Given the description of an element on the screen output the (x, y) to click on. 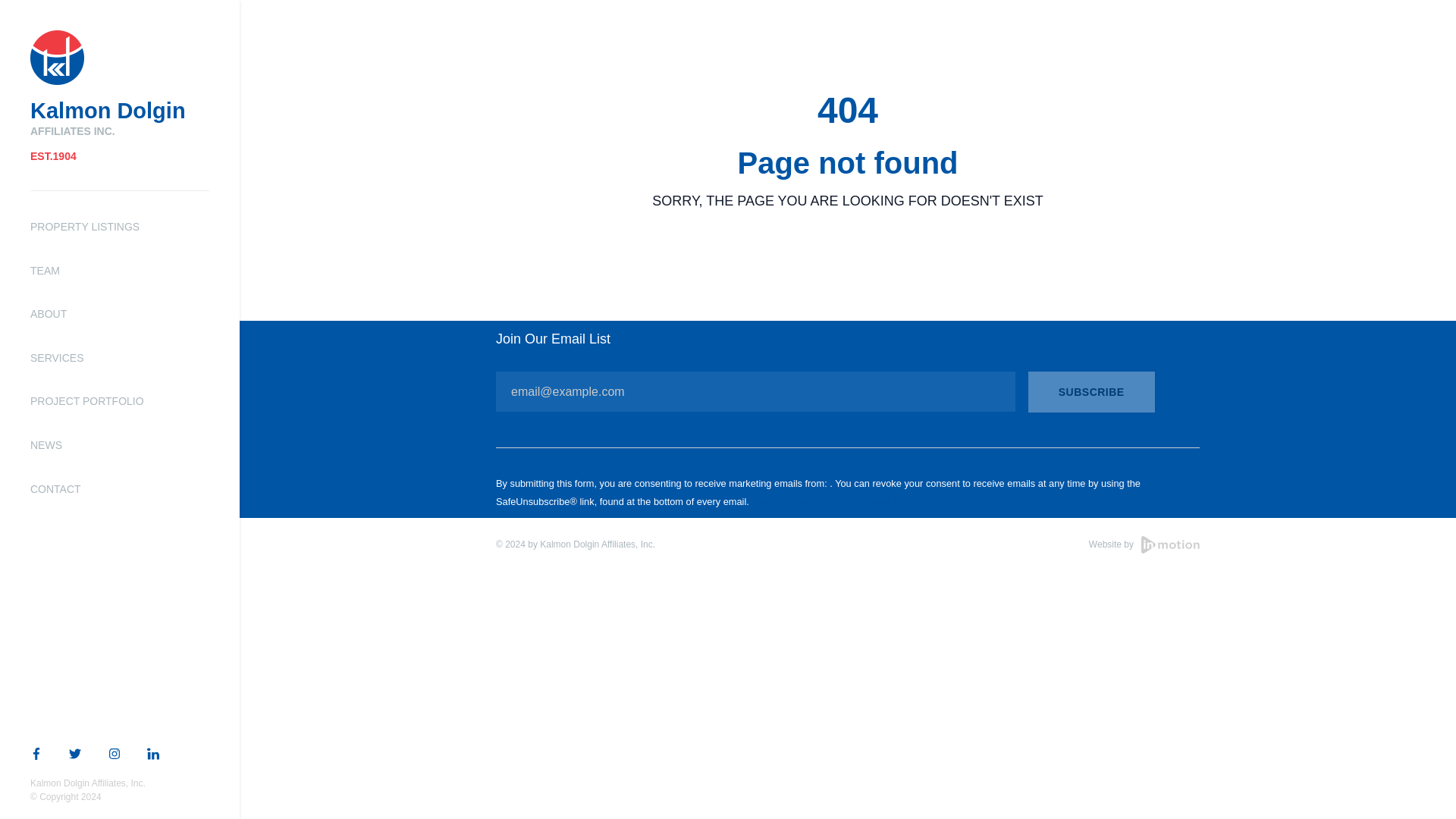
TEAM (44, 270)
SERVICES (57, 357)
CONTACT (55, 489)
ABOUT (48, 313)
Emails are serviced by Constant Contact (838, 501)
NEWS (46, 444)
SUBSCRIBE (1091, 392)
PROJECT PORTFOLIO (87, 400)
SUBSCRIBE (1091, 392)
PROPERTY LISTINGS (84, 226)
